Given the description of an element on the screen output the (x, y) to click on. 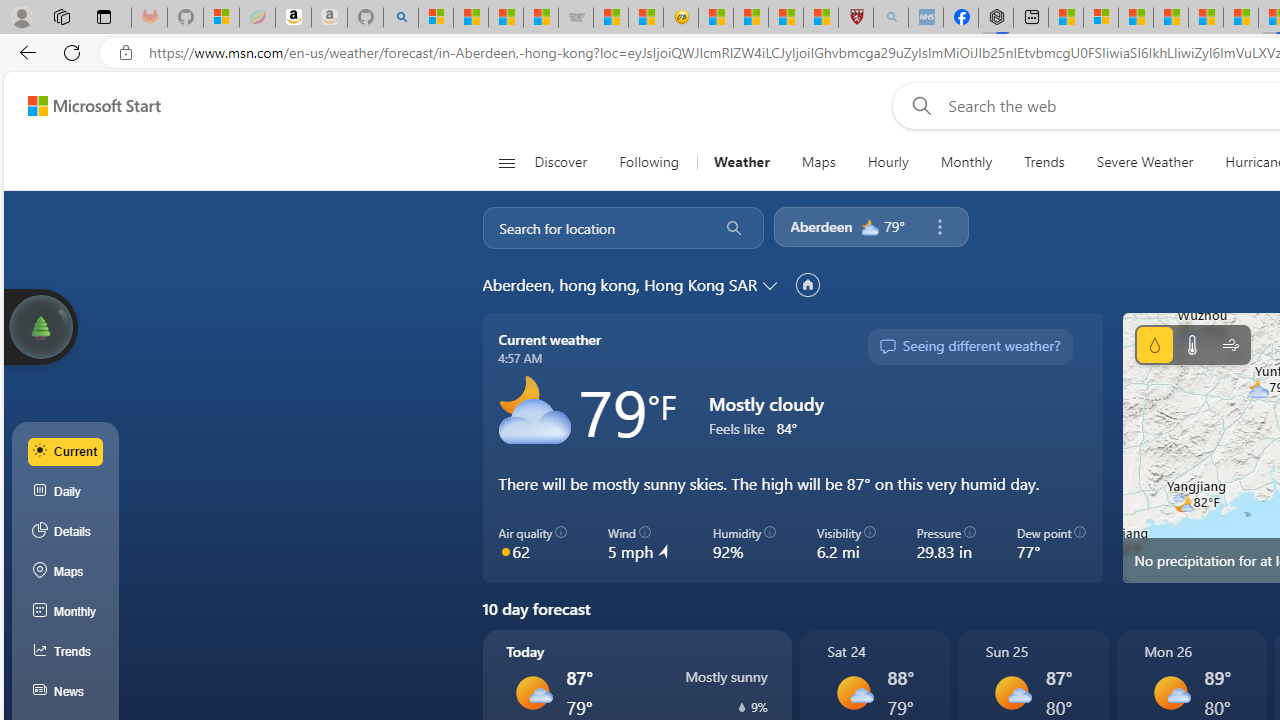
Aberdeen (820, 226)
Mostly cloudy (533, 411)
Aberdeen, hong kong, Hong Kong SAR (619, 284)
Wind (1230, 344)
Visibility 6.2 mi (845, 543)
Search for location (594, 227)
Temperature (1191, 344)
Recipes - MSN (715, 17)
Details (65, 531)
